Given the description of an element on the screen output the (x, y) to click on. 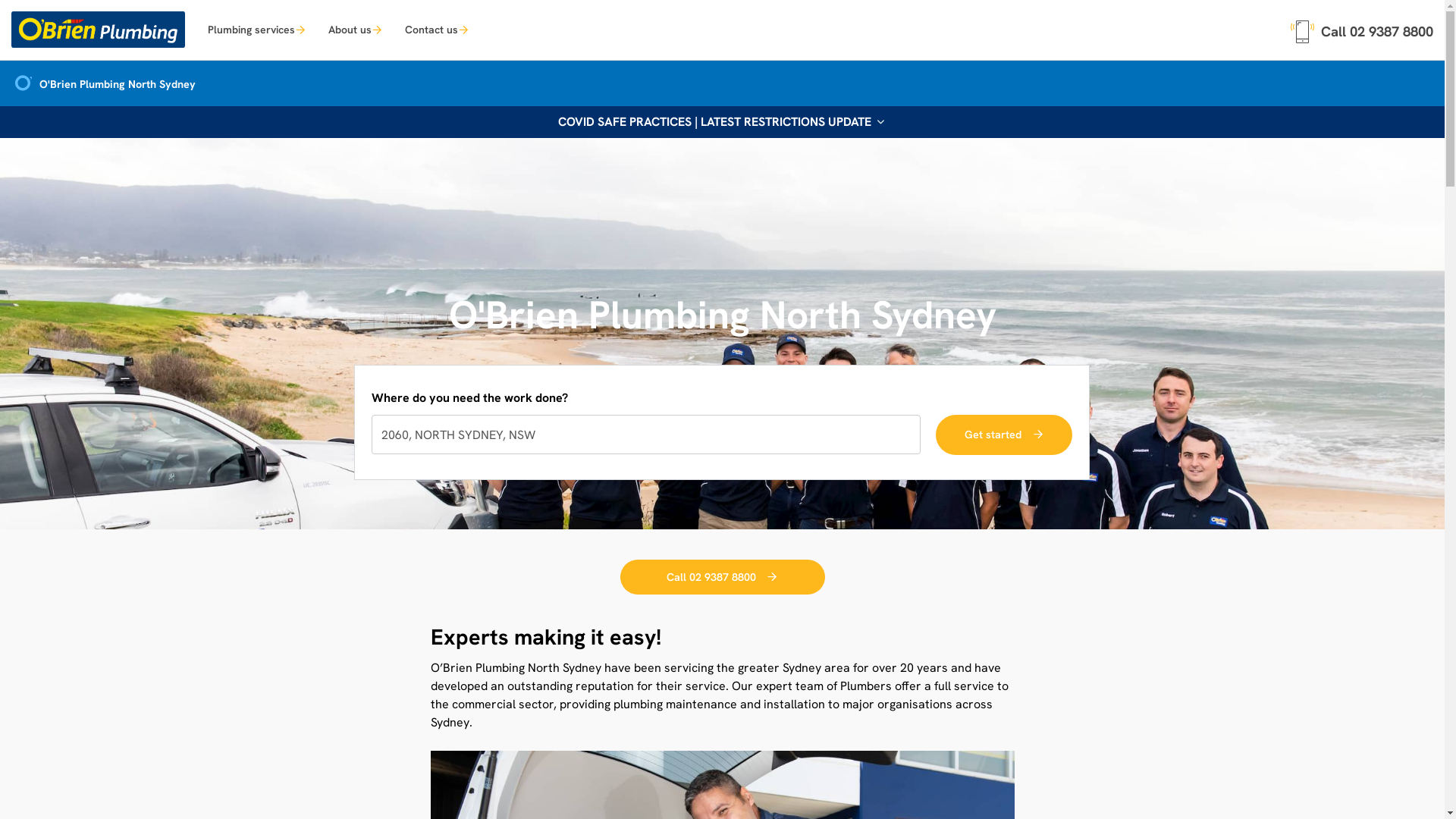
Get started Element type: text (1004, 434)
Call 02 9387 8800 Element type: text (722, 577)
Plumbing services Element type: text (256, 28)
Call 02 9387 8800 Element type: text (1361, 29)
Contact us Element type: text (436, 28)
O'Brien Plumbing North Sydney Element type: text (103, 84)
About us Element type: text (354, 28)
